Given the description of an element on the screen output the (x, y) to click on. 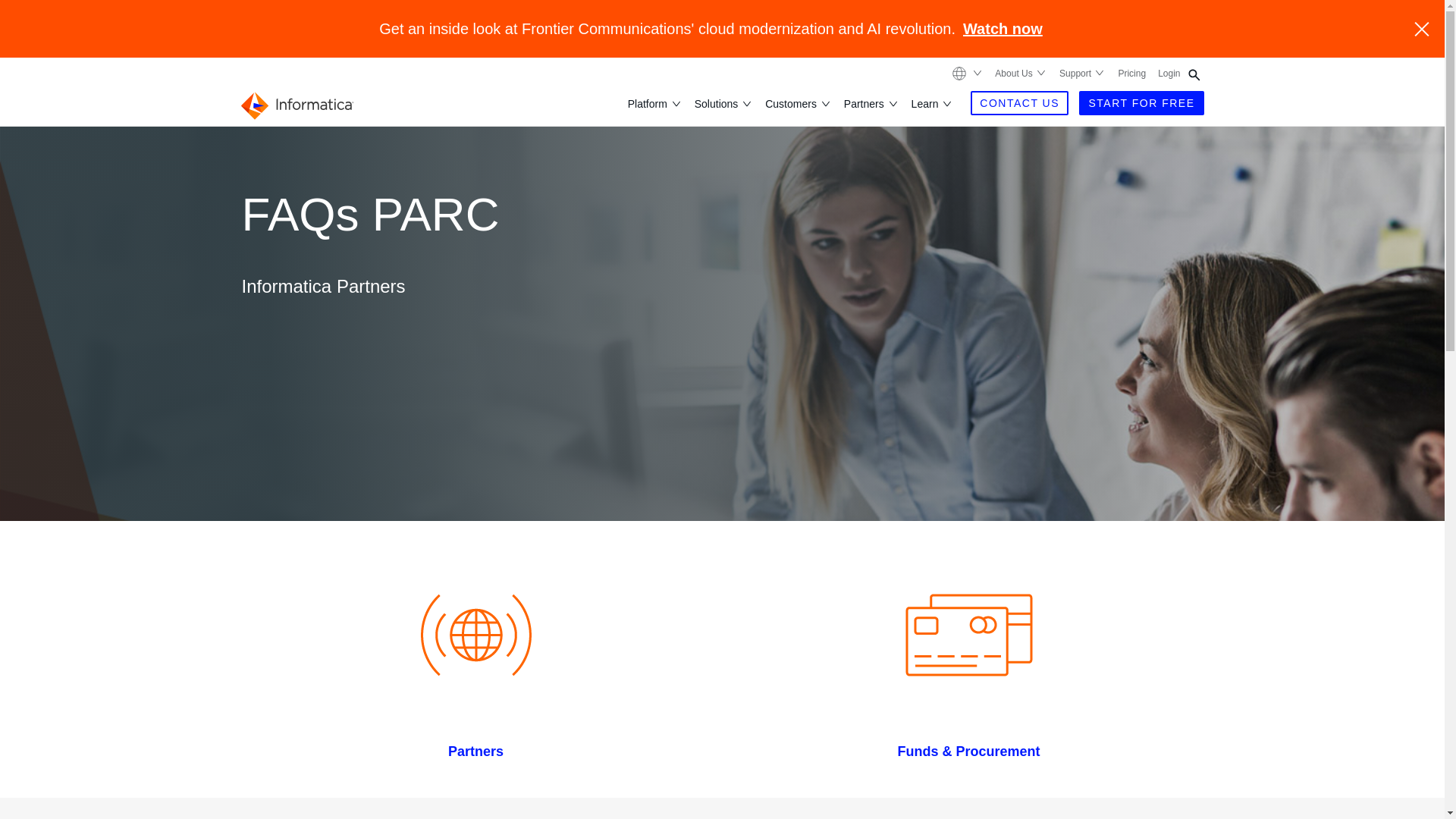
Platform (648, 103)
Solutions (717, 103)
Watch now (1002, 28)
